Given the description of an element on the screen output the (x, y) to click on. 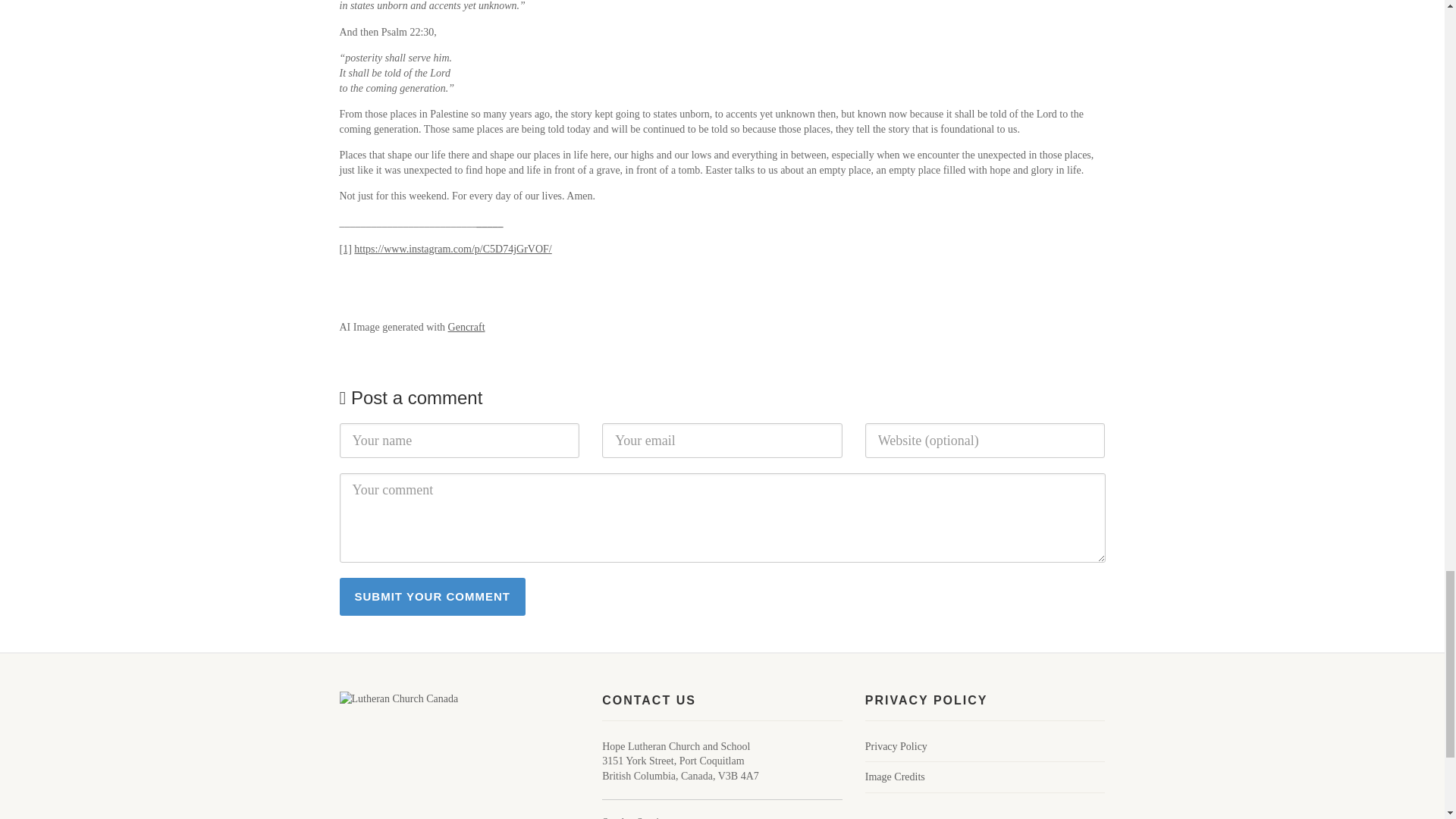
Submit your comment (432, 596)
